Given the description of an element on the screen output the (x, y) to click on. 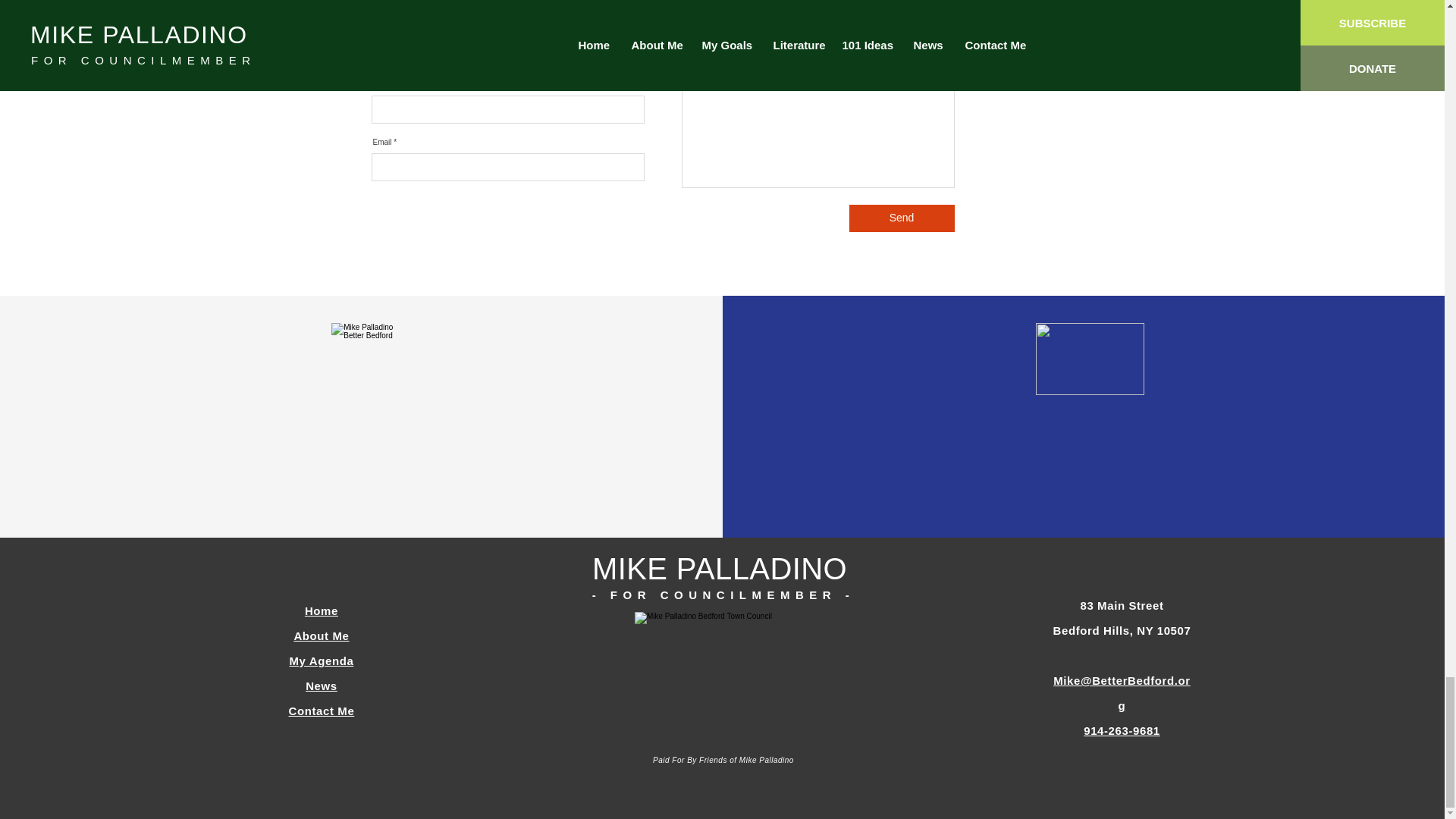
Contact Me (321, 710)
About Me (321, 635)
News (321, 685)
Send (901, 217)
914-263-9681 (1121, 730)
My Agenda (321, 660)
Home (320, 610)
